Given the description of an element on the screen output the (x, y) to click on. 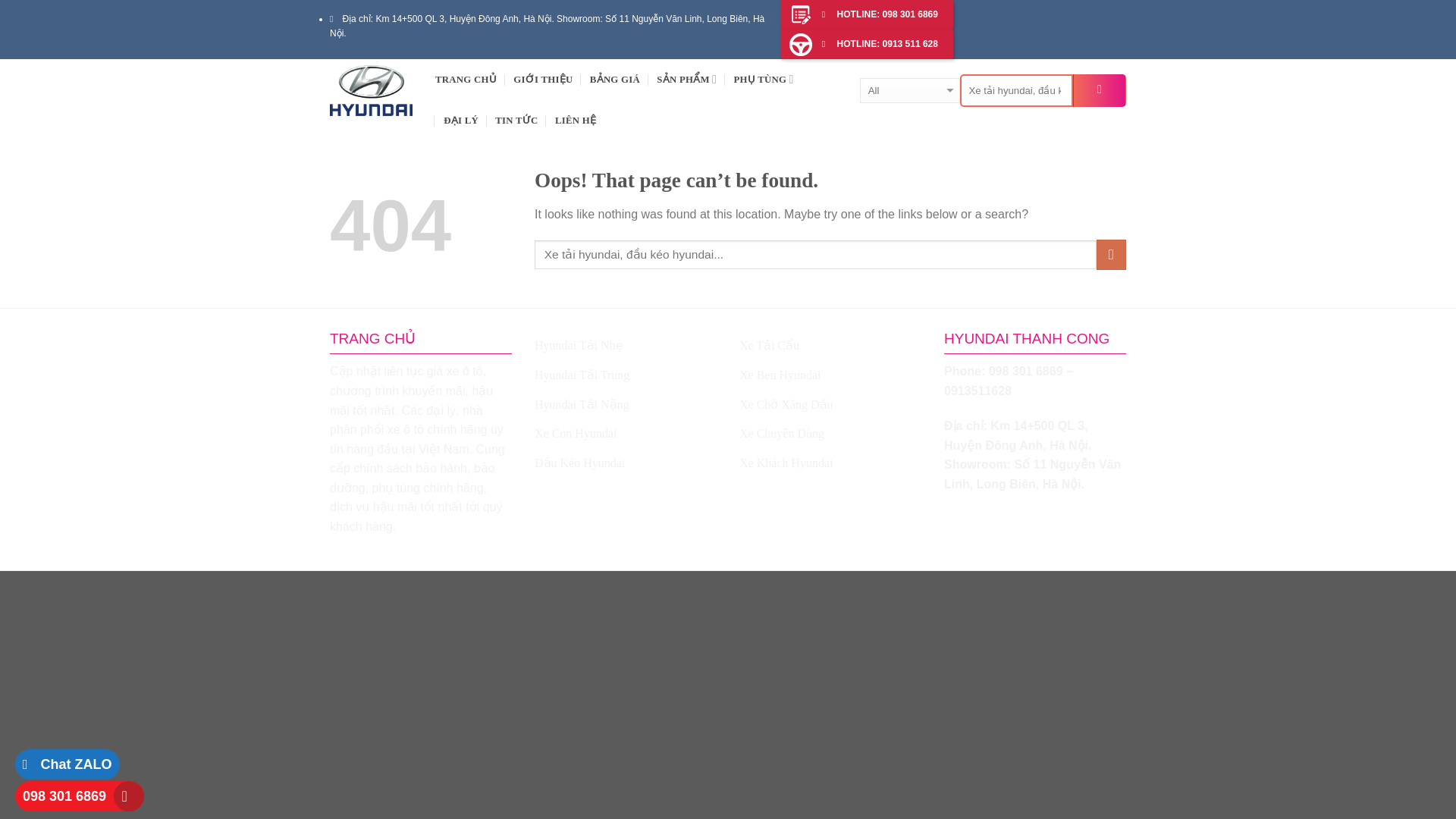
Xe Con Hyundai (574, 433)
HOTLINE: 0913 511 628 (866, 43)
HOTLINE: 098 301 6869 (866, 14)
